Given the description of an element on the screen output the (x, y) to click on. 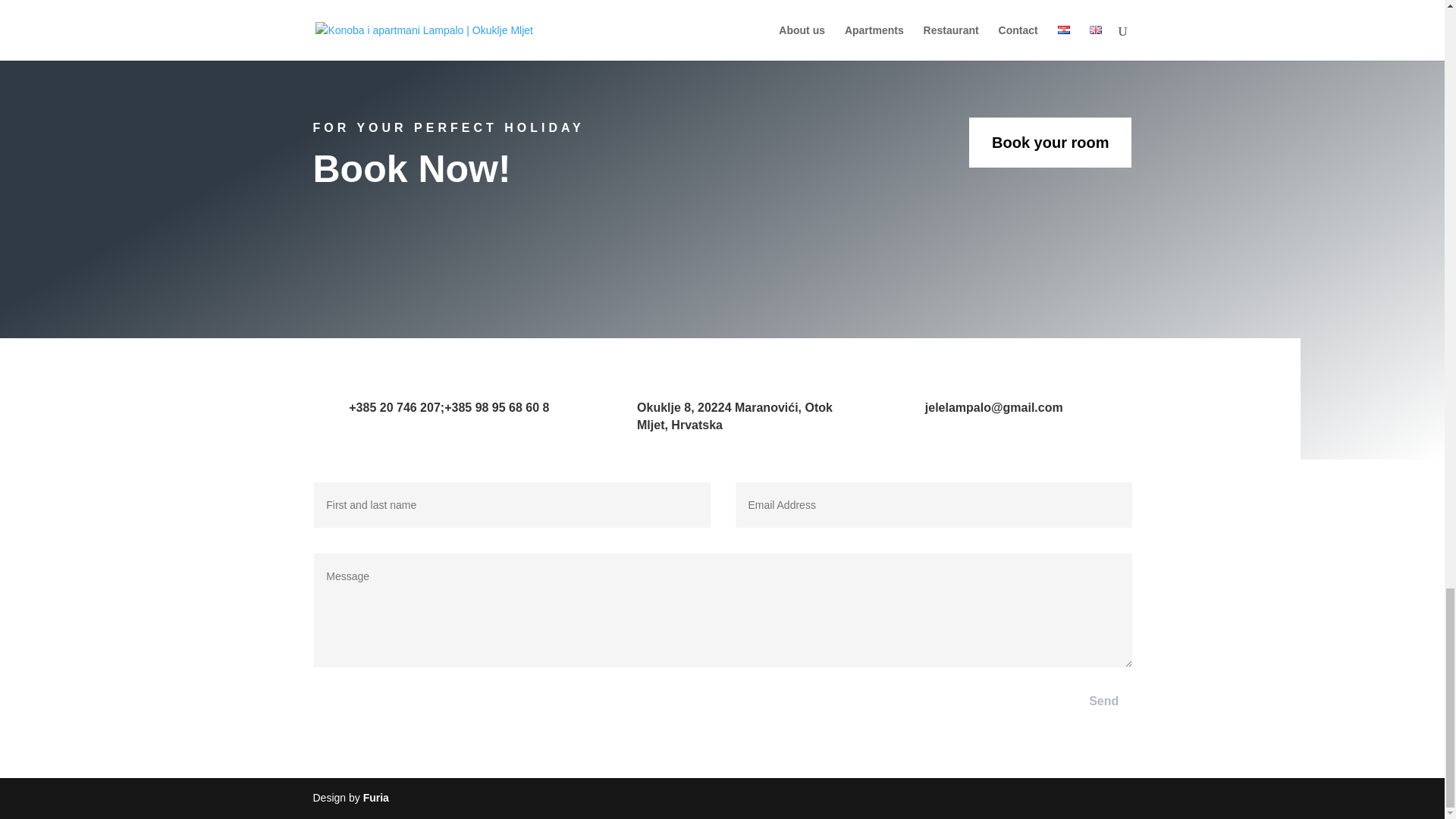
Send (1103, 700)
Book your room (1050, 142)
Furia (375, 797)
